Given the description of an element on the screen output the (x, y) to click on. 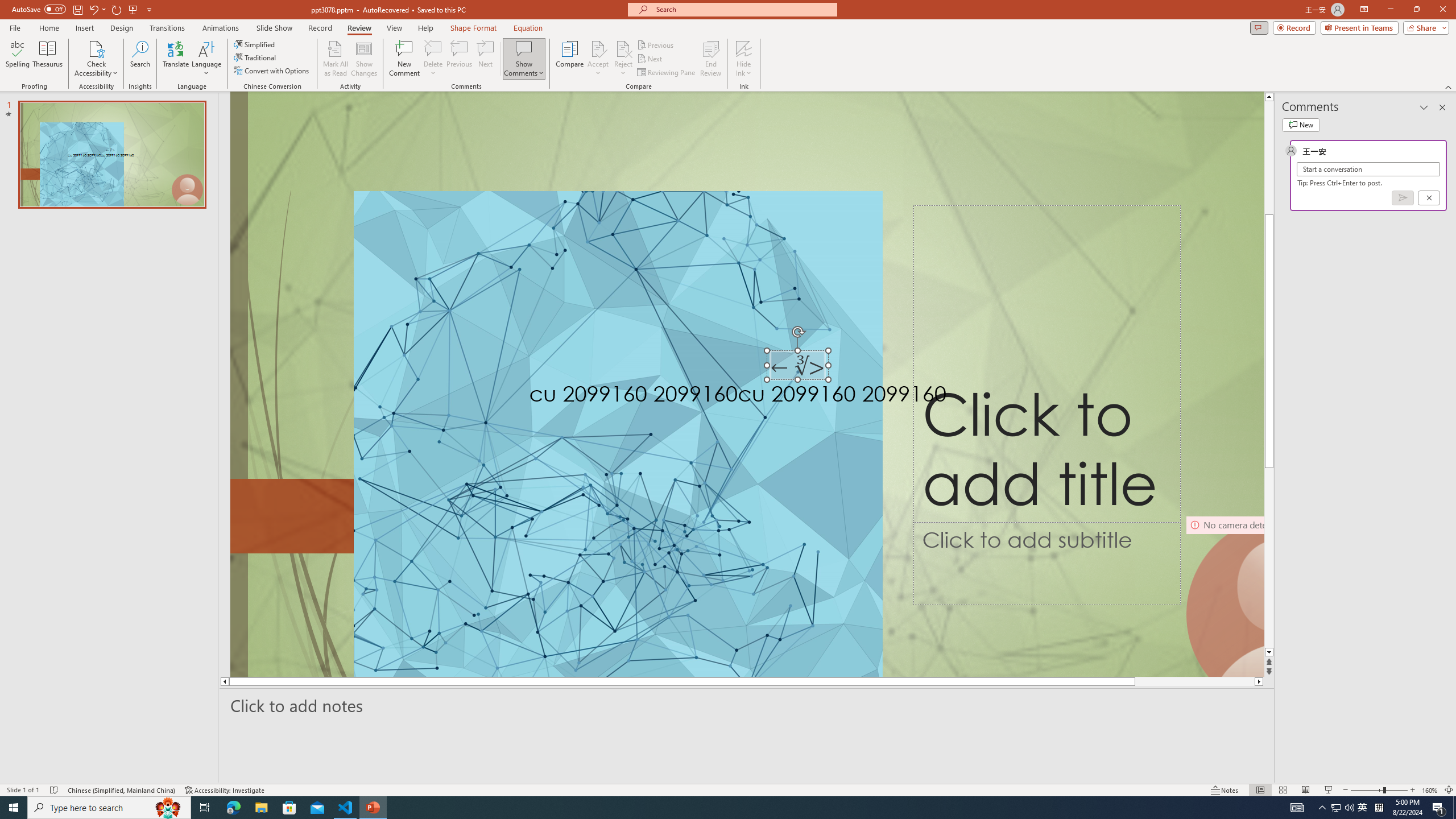
Mark All as Read (335, 58)
Reviewing Pane (666, 72)
TextBox 7 (797, 367)
